Given the description of an element on the screen output the (x, y) to click on. 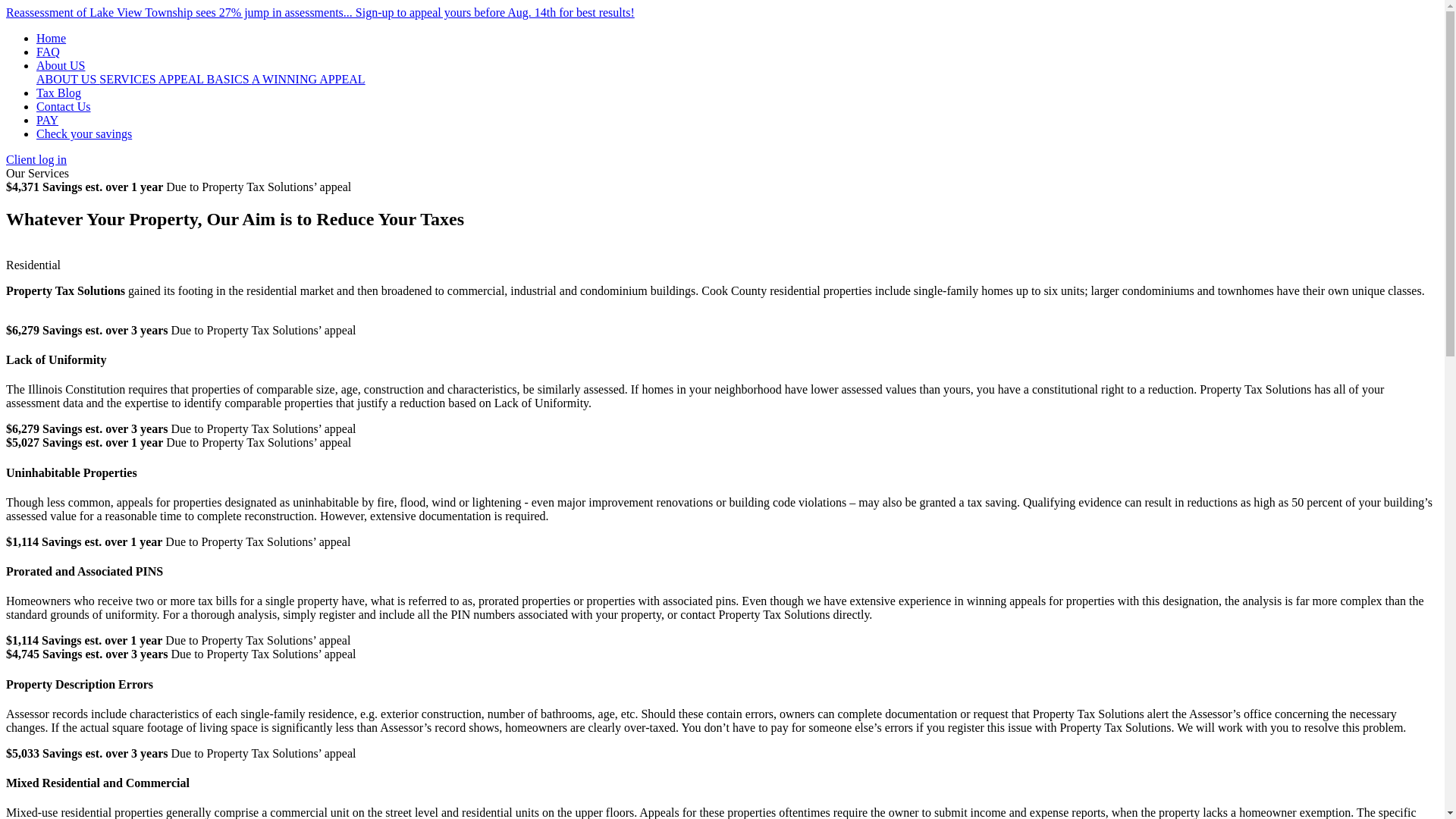
Client log in (35, 159)
FAQ (47, 51)
APPEAL BASICS (204, 78)
PAY (47, 119)
ABOUT US (67, 78)
About US (60, 65)
SERVICES (128, 78)
Check your savings (84, 133)
Home (50, 38)
Tax Blog (58, 92)
Contact Us (63, 106)
A WINNING APPEAL (308, 78)
